Given the description of an element on the screen output the (x, y) to click on. 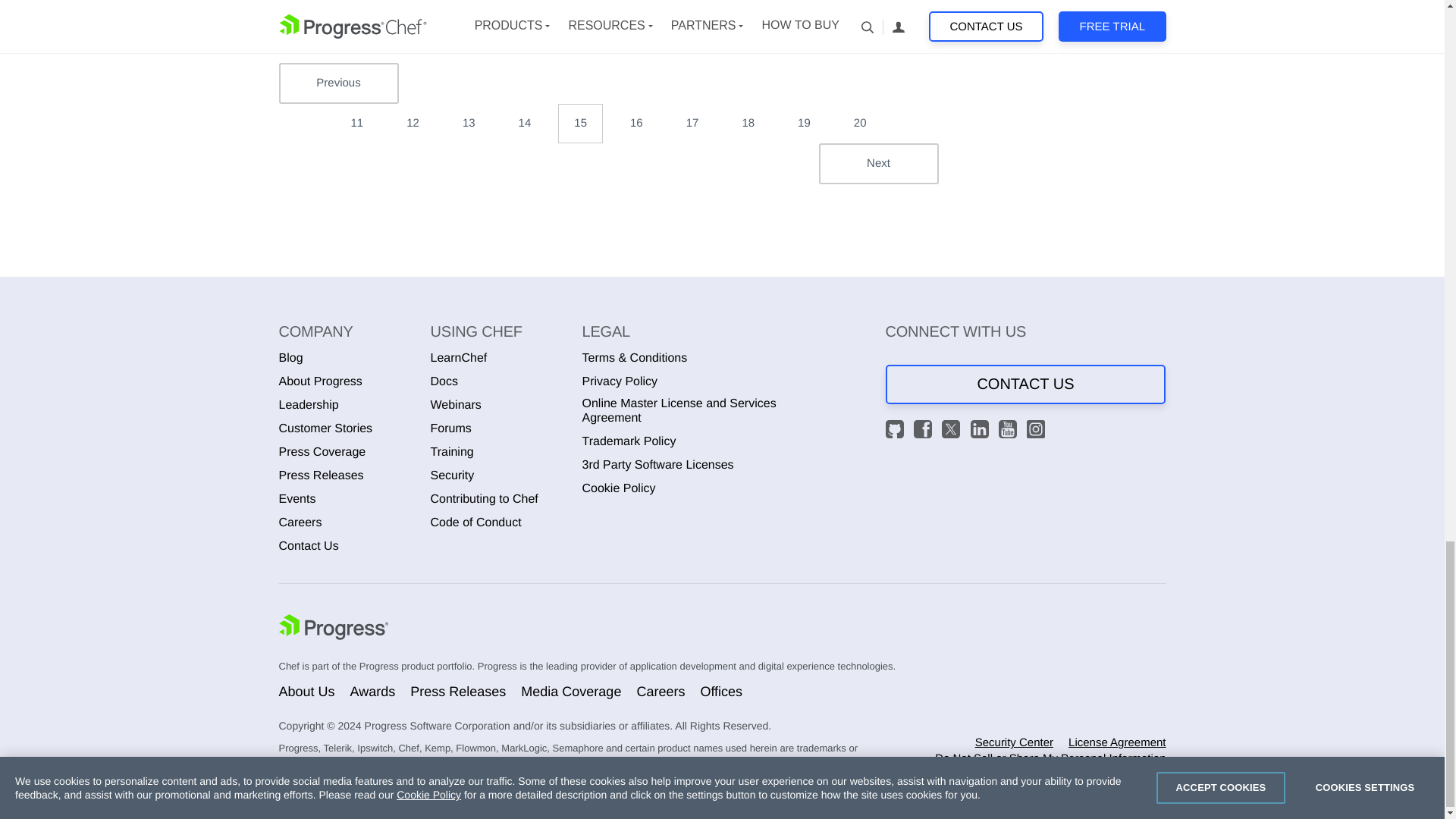
Progress-logo (333, 629)
